Given the description of an element on the screen output the (x, y) to click on. 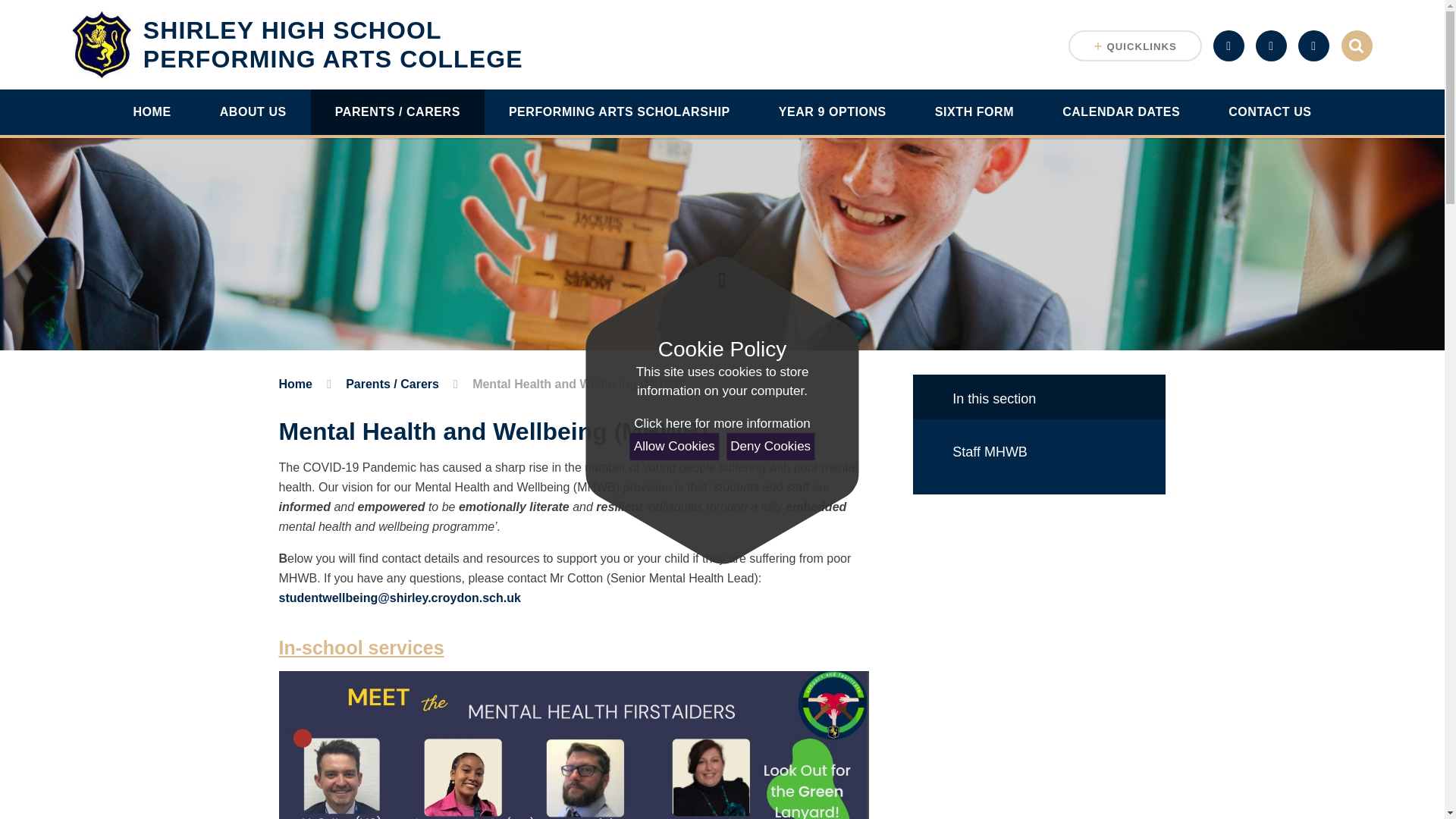
Allow Cookies (674, 446)
HOME (151, 112)
ABOUT US (253, 112)
Twitter (1313, 45)
Deny Cookies (296, 44)
See cookie policy (769, 446)
Instagram (721, 424)
Facebook (1271, 45)
